Given the description of an element on the screen output the (x, y) to click on. 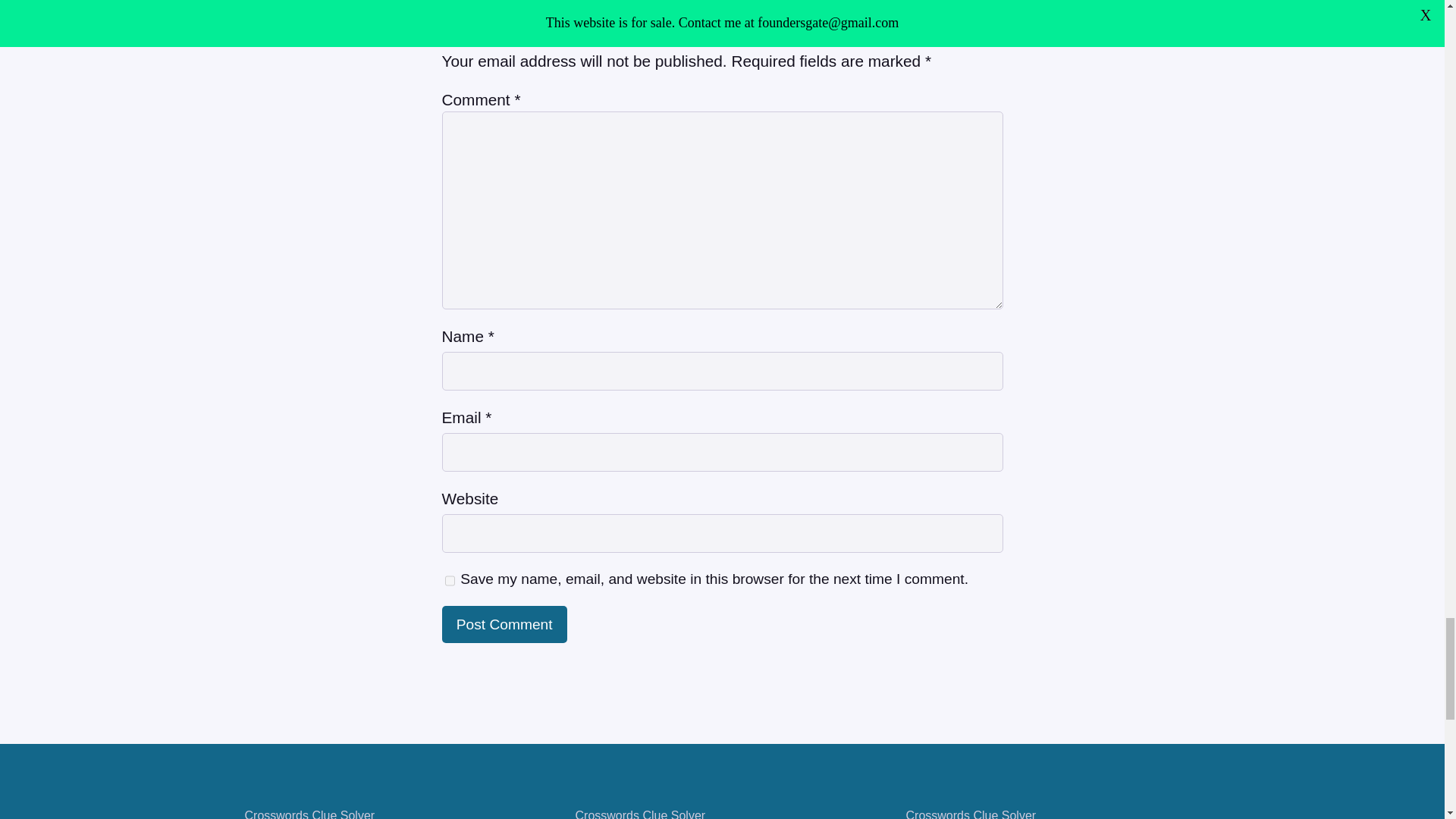
Crosswords Clue Solver (639, 814)
yes (449, 581)
Post Comment (503, 624)
Crosswords Clue Solver (970, 814)
Crosswords Clue Solver (309, 814)
Post Comment (503, 624)
